Given the description of an element on the screen output the (x, y) to click on. 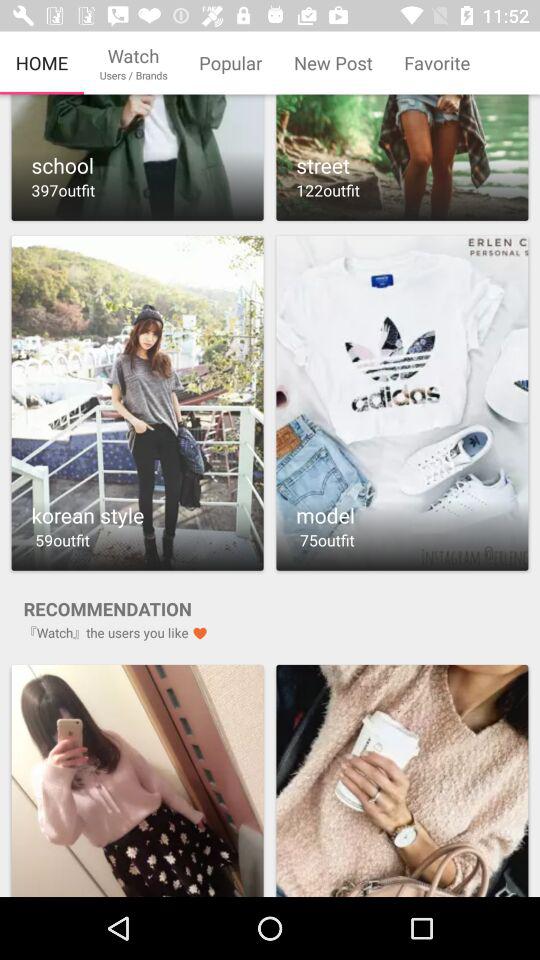
open page (402, 780)
